Given the description of an element on the screen output the (x, y) to click on. 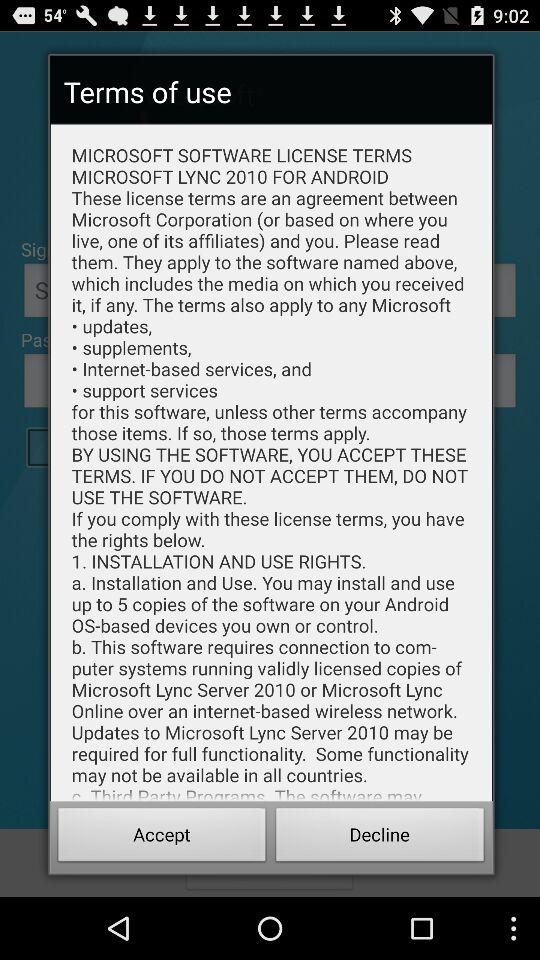
scroll to decline button (380, 837)
